Given the description of an element on the screen output the (x, y) to click on. 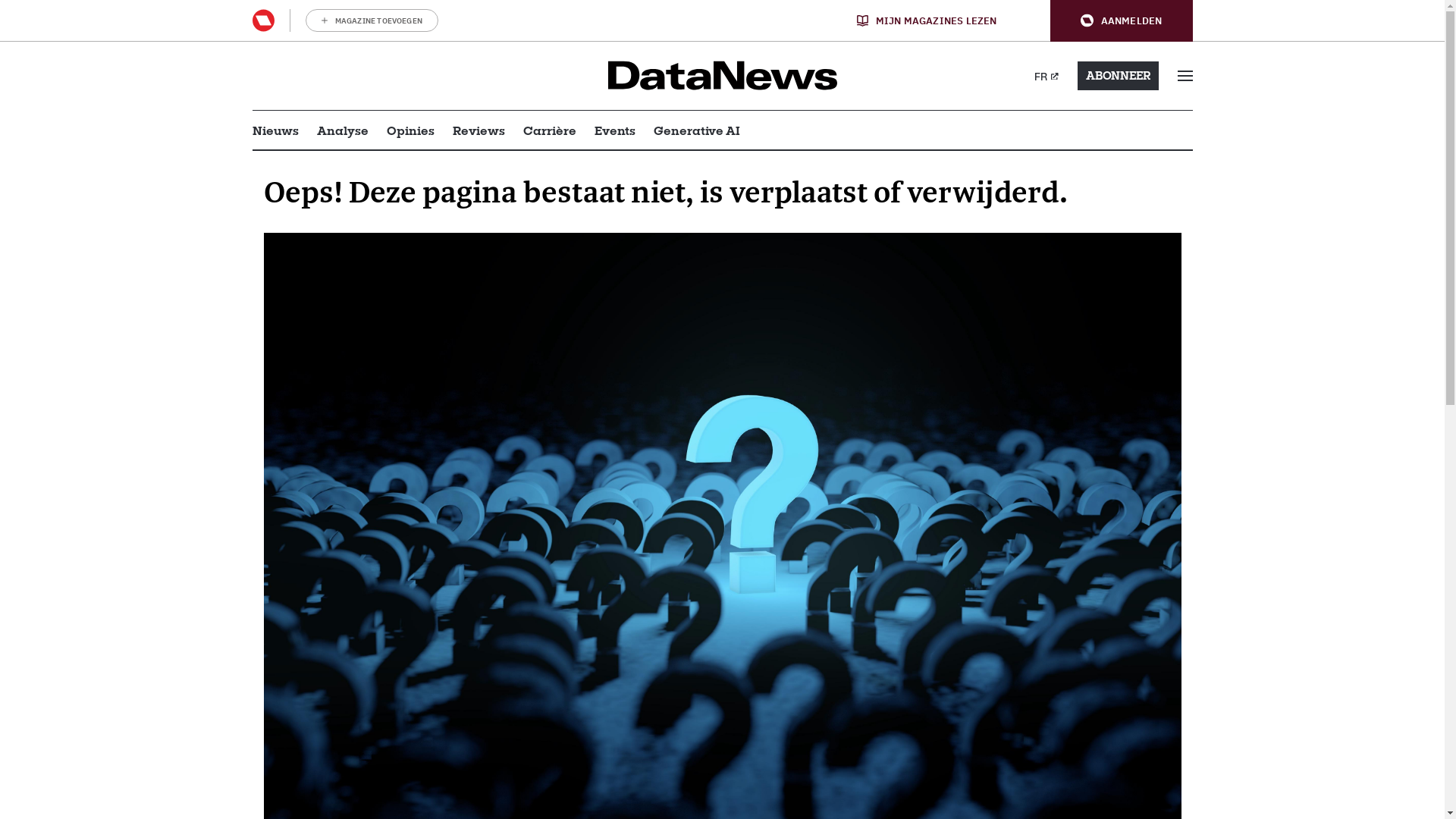
MAGAZINE TOEVOEGEN Element type: text (371, 20)
Reviews Element type: text (477, 129)
FR Element type: text (1046, 75)
Analyse Element type: text (342, 129)
ABONNEER Element type: text (1116, 75)
MIJN MAGAZINES LEZEN Element type: text (926, 19)
Nieuws Element type: text (274, 129)
Generative AI Element type: text (696, 129)
Opinies Element type: text (410, 129)
Events Element type: text (614, 129)
